Given the description of an element on the screen output the (x, y) to click on. 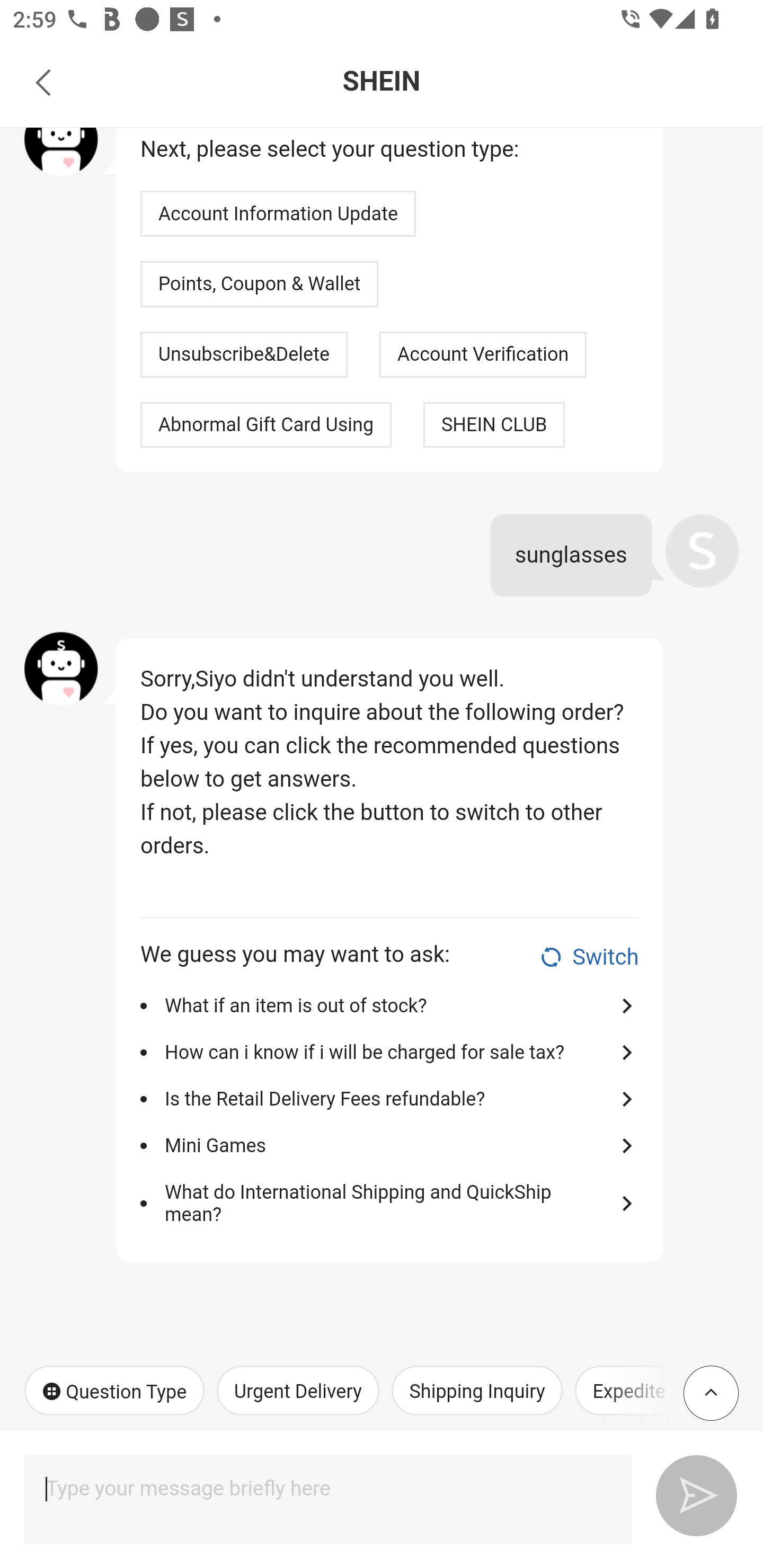
Back (43, 81)
Account Information Update (277, 213)
Points, Coupon & Wallet (259, 284)
Unsubscribe&Delete (243, 353)
Account Verification (483, 353)
Abnormal Gift Card Using (265, 423)
SHEIN CLUB (494, 423)
 Switch (588, 956)
What if an item is out of stock? (384, 1004)
How can i know if i will be charged for sale tax? (384, 1052)
Is the Retail Delivery Fees refundable? (384, 1098)
Mini Games (384, 1146)
What do International Shipping and QuickShip mean? (384, 1203)
Enter (688, 1492)
